Given the description of an element on the screen output the (x, y) to click on. 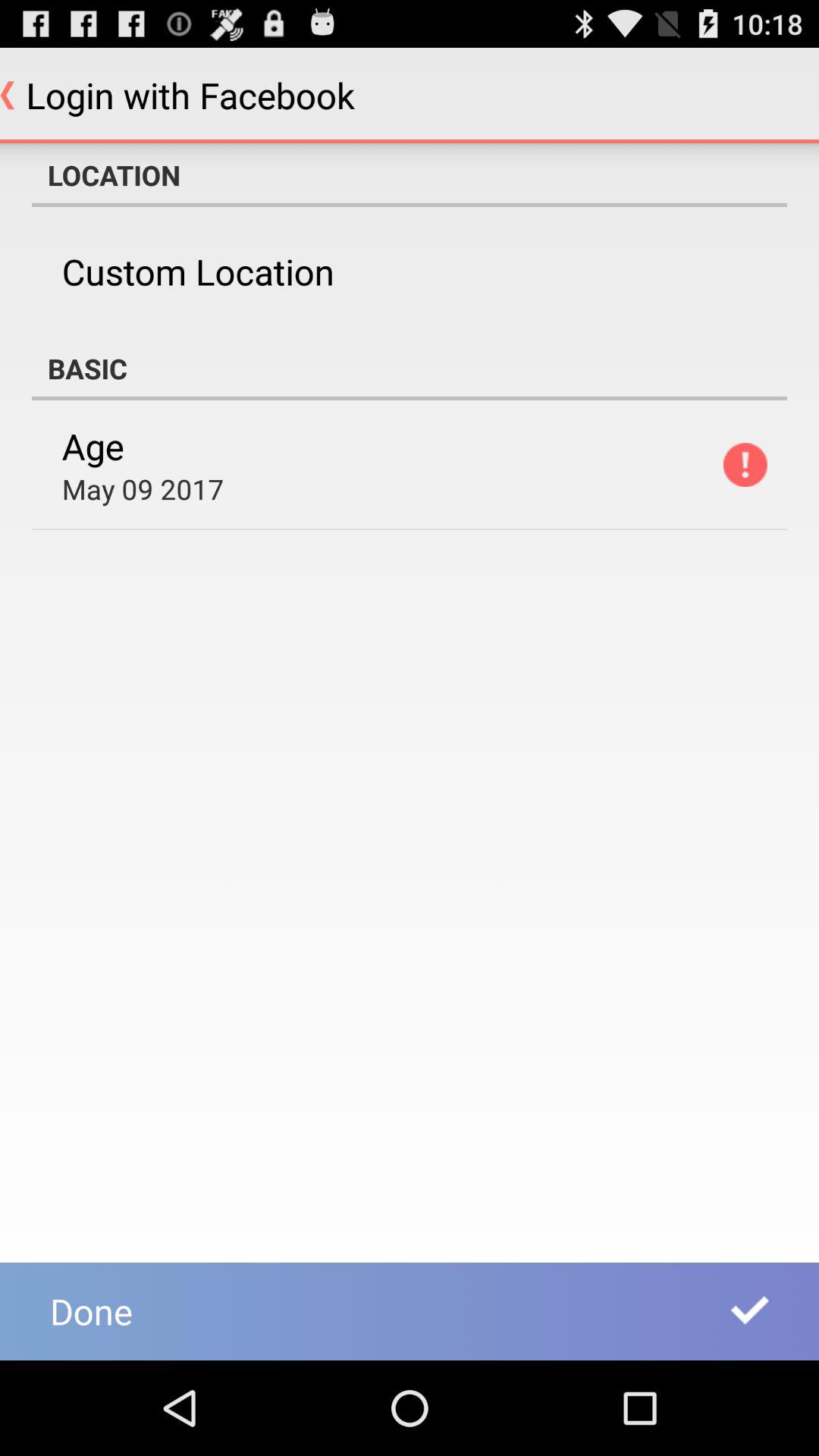
scroll to the custom location item (197, 271)
